Given the description of an element on the screen output the (x, y) to click on. 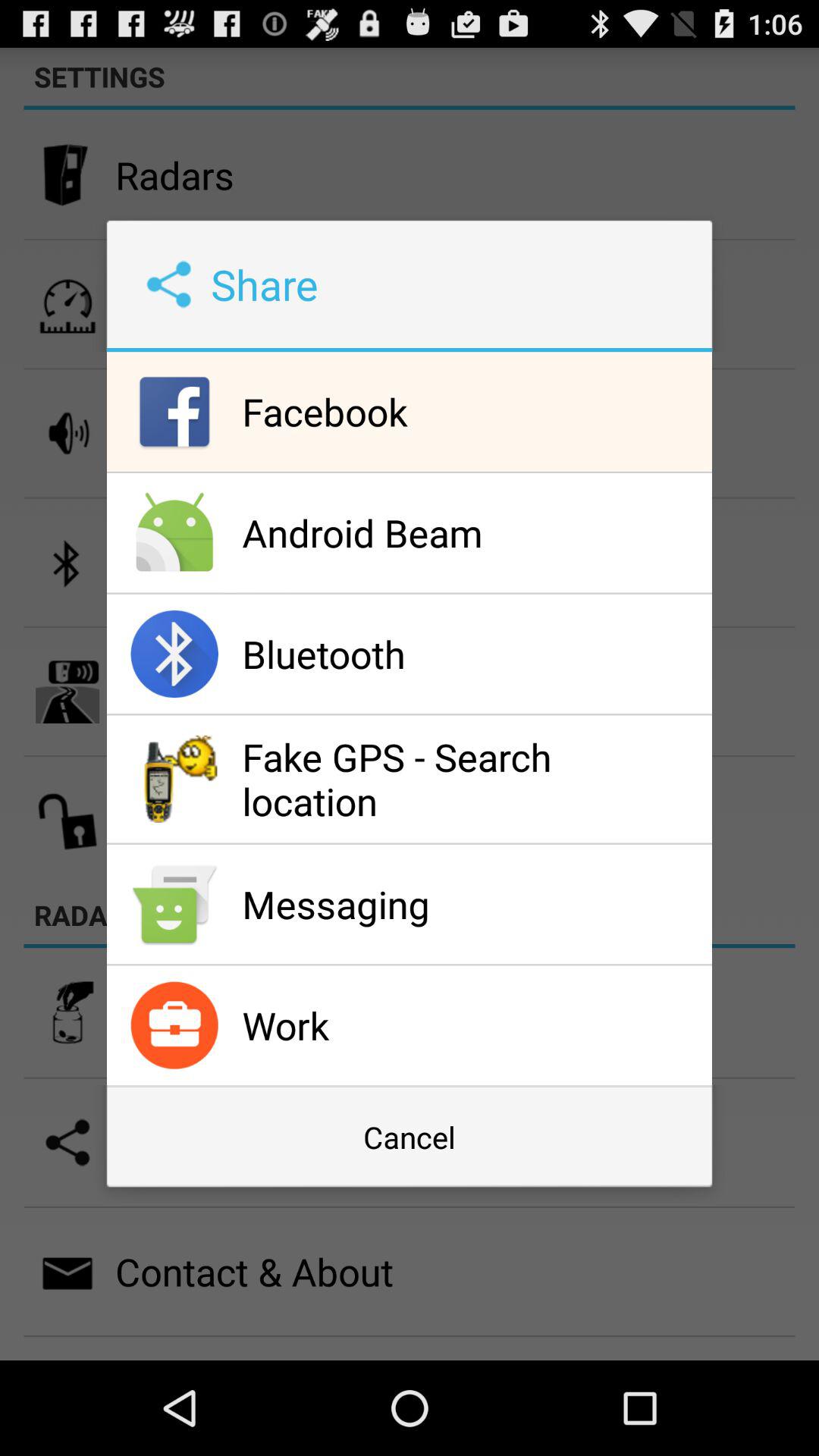
turn off the android beam (473, 532)
